Given the description of an element on the screen output the (x, y) to click on. 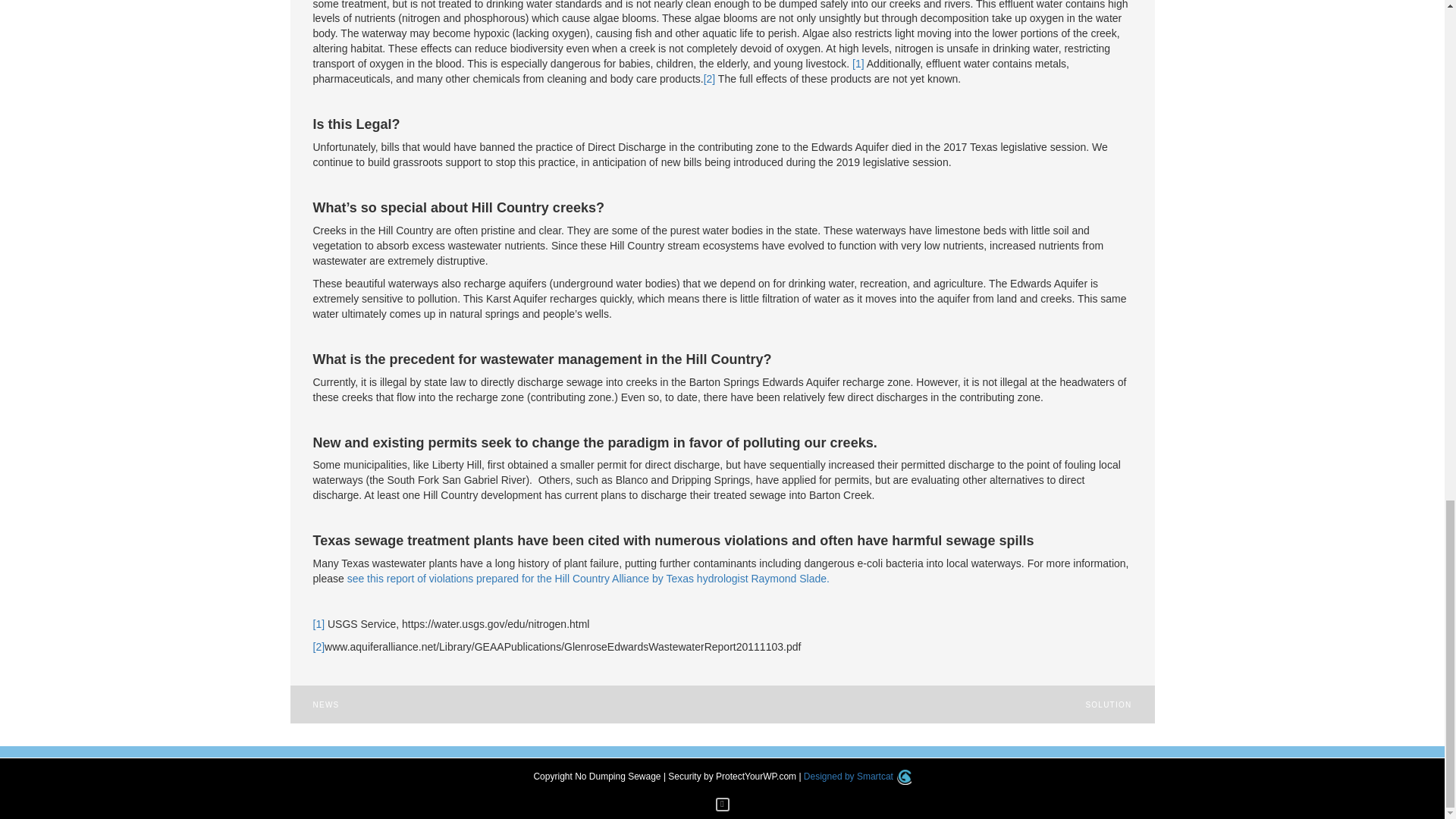
Designed by Smartcat (857, 776)
NEWS (326, 705)
SOLUTION (1107, 705)
